Given the description of an element on the screen output the (x, y) to click on. 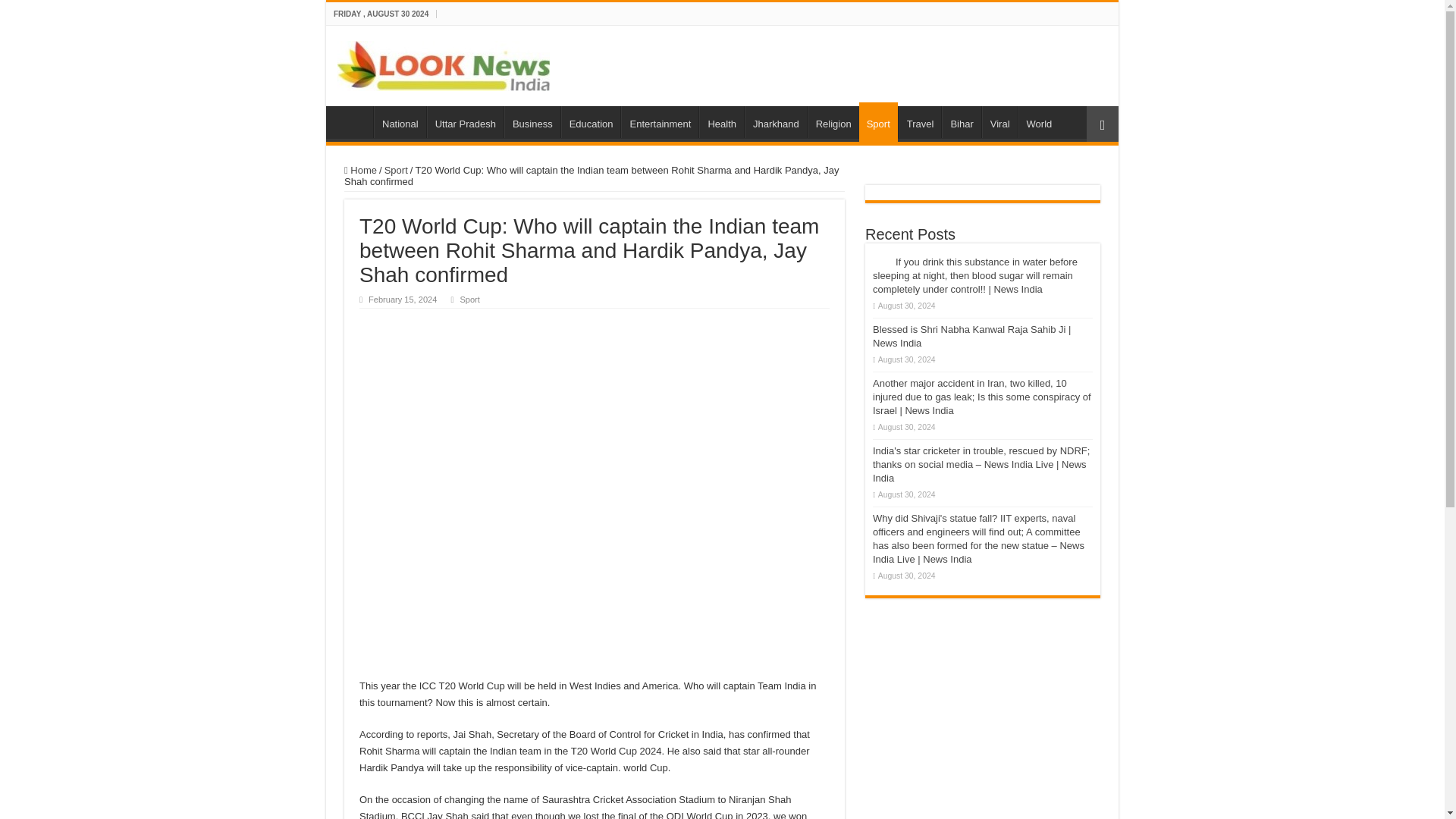
World (1038, 122)
Random Article (1102, 123)
Education (590, 122)
Home (352, 122)
Sport (395, 170)
Home (360, 170)
Sport (469, 298)
National (400, 122)
Viral (999, 122)
Jharkhand (775, 122)
